Given the description of an element on the screen output the (x, y) to click on. 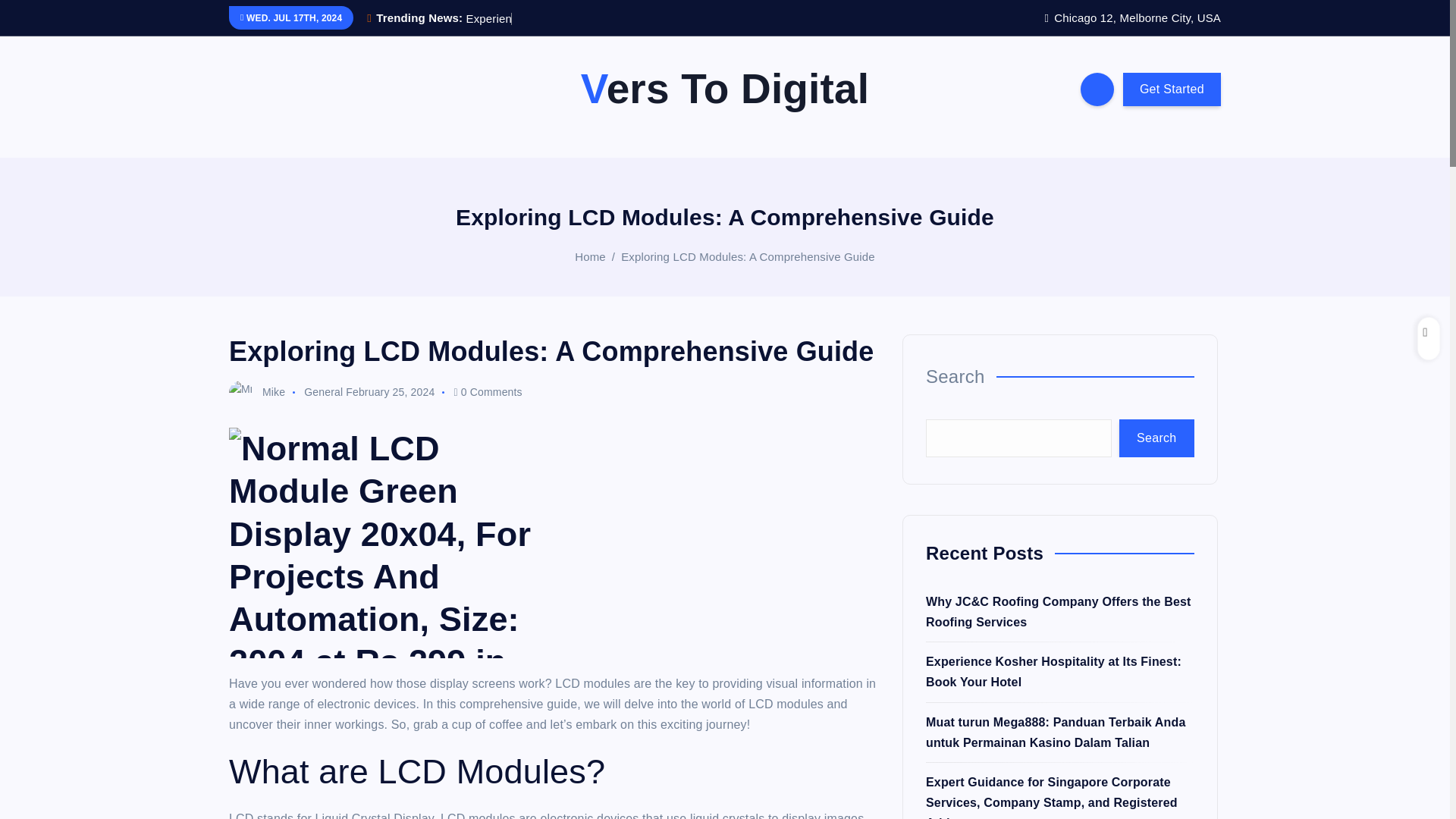
General (323, 391)
Vers To Digital (724, 89)
Experience Kosher Hospitality at Its Finest: Book Your Hotel (1053, 671)
Exploring LCD Modules: A Comprehensive Guide (748, 256)
Search (1156, 438)
Get Started (1171, 89)
Home (590, 256)
Mike (256, 391)
